Given the description of an element on the screen output the (x, y) to click on. 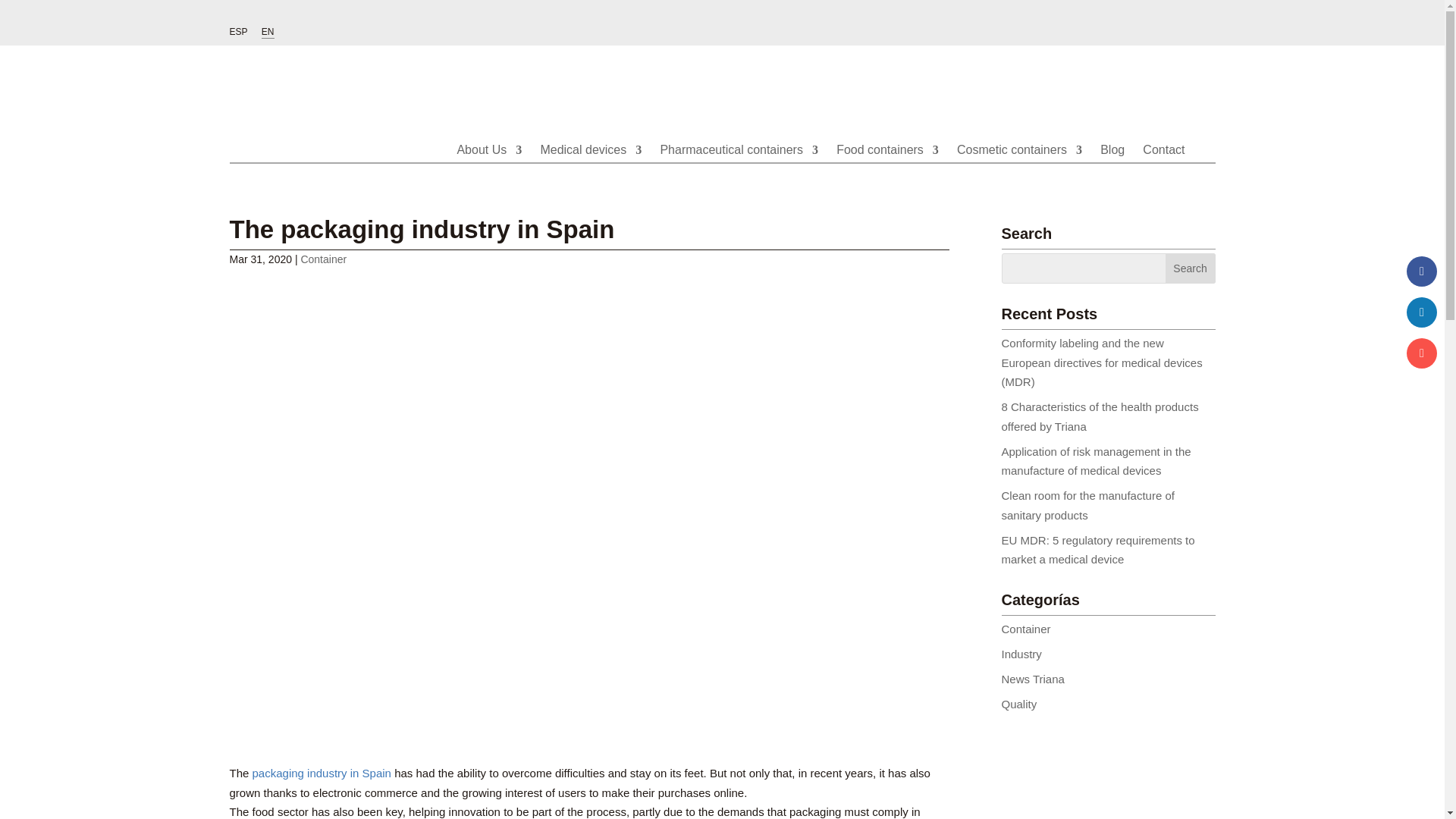
About Us (489, 165)
ESP (237, 35)
packaging industry in Spain (321, 772)
EN (268, 32)
ESP (237, 35)
Search (1190, 268)
Food containers (887, 165)
Medical devices (591, 165)
Pharmaceutical containers (738, 165)
Cosmetic containers (1018, 165)
